Given the description of an element on the screen output the (x, y) to click on. 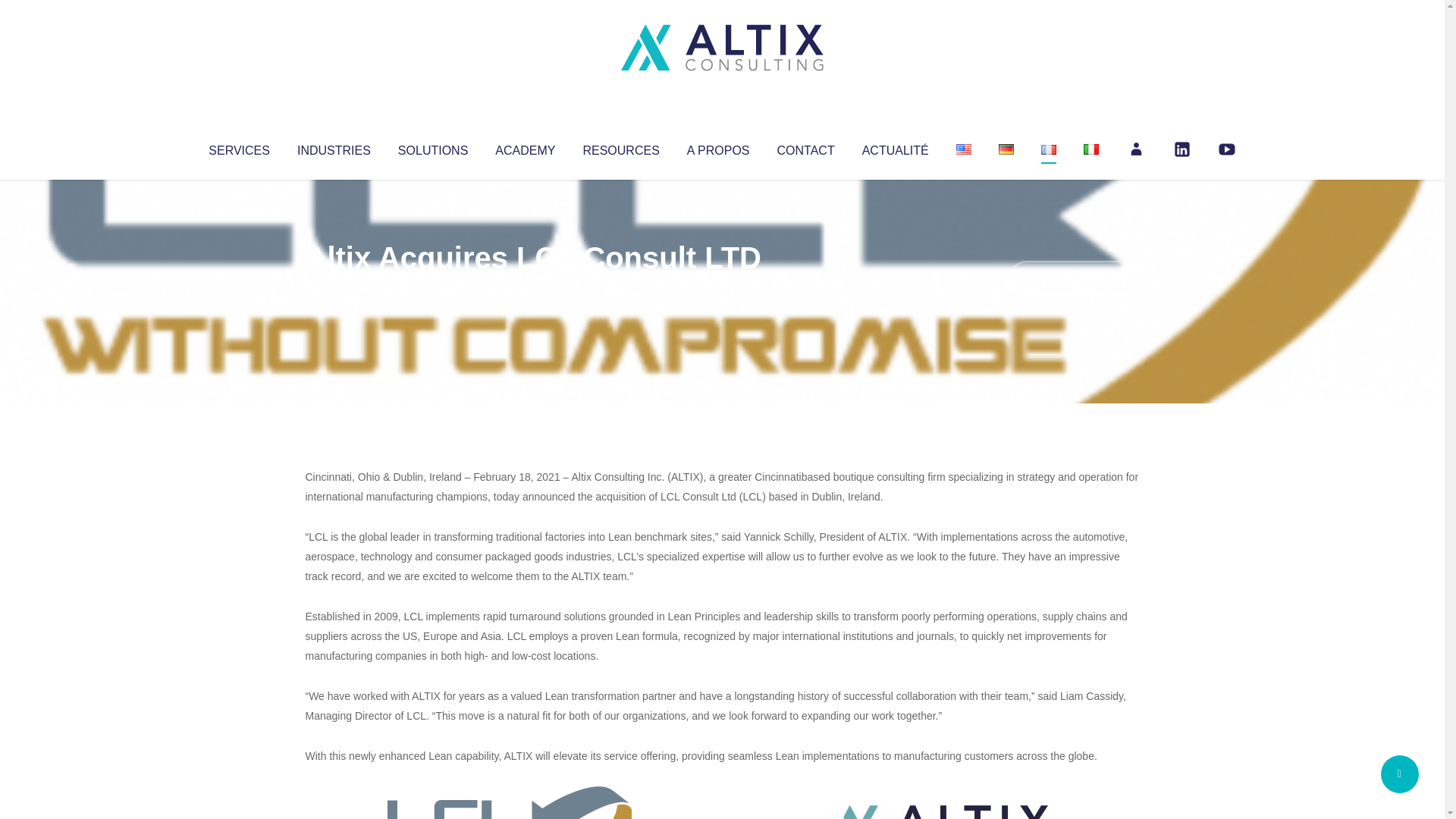
SERVICES (238, 146)
SOLUTIONS (432, 146)
Uncategorized (530, 287)
No Comments (1073, 278)
INDUSTRIES (334, 146)
ACADEMY (524, 146)
RESOURCES (620, 146)
A PROPOS (718, 146)
Articles par Altix (333, 287)
Altix (333, 287)
